Given the description of an element on the screen output the (x, y) to click on. 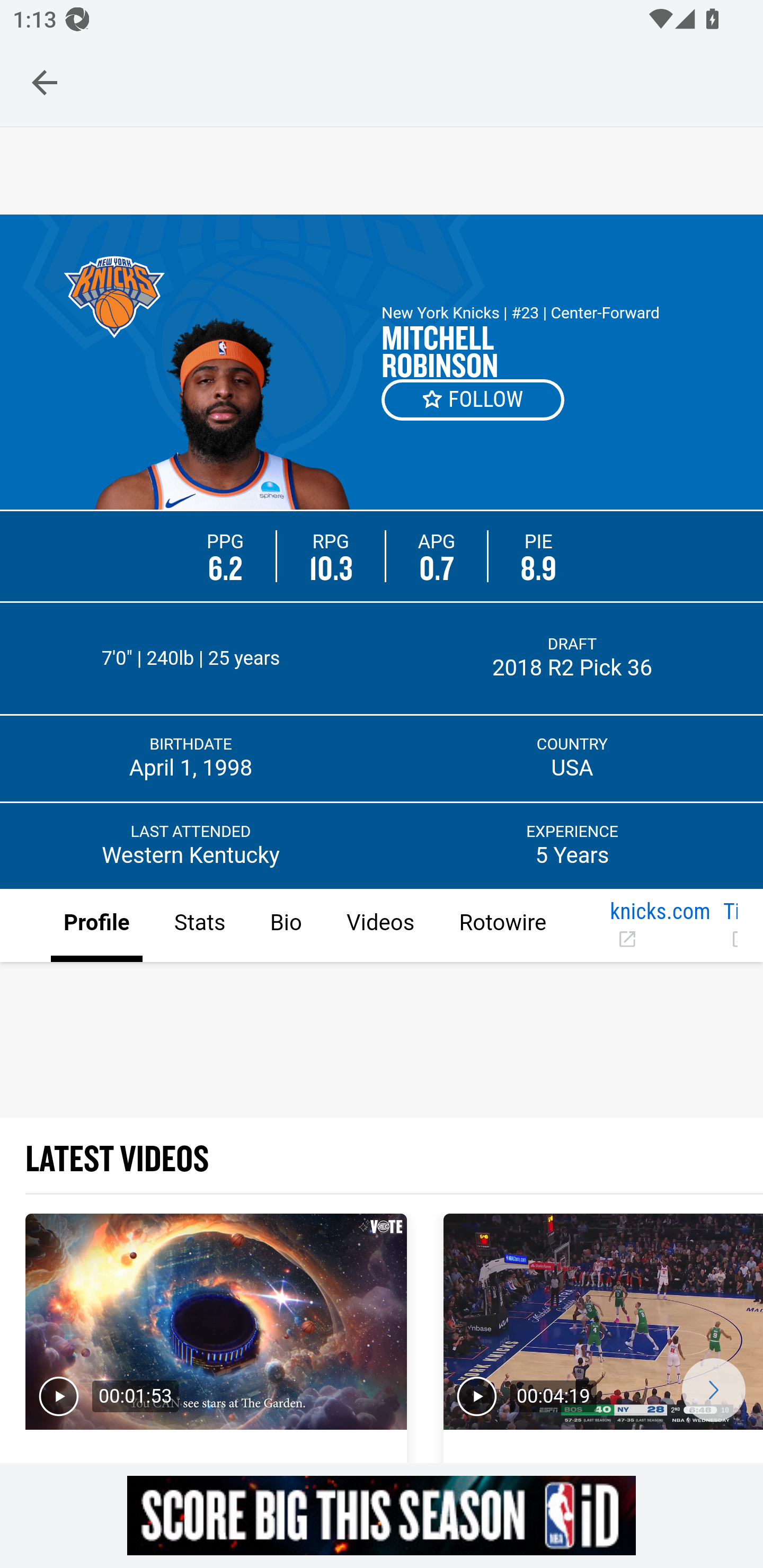
Navigate up (44, 82)
New York Knicks Logo (114, 297)
FOLLOW (473, 399)
Profile (97, 926)
Stats (199, 926)
Bio (284, 926)
Videos (379, 926)
Rotowire (501, 926)
knicks.com (659, 926)
Carousel Button (713, 1389)
